Given the description of an element on the screen output the (x, y) to click on. 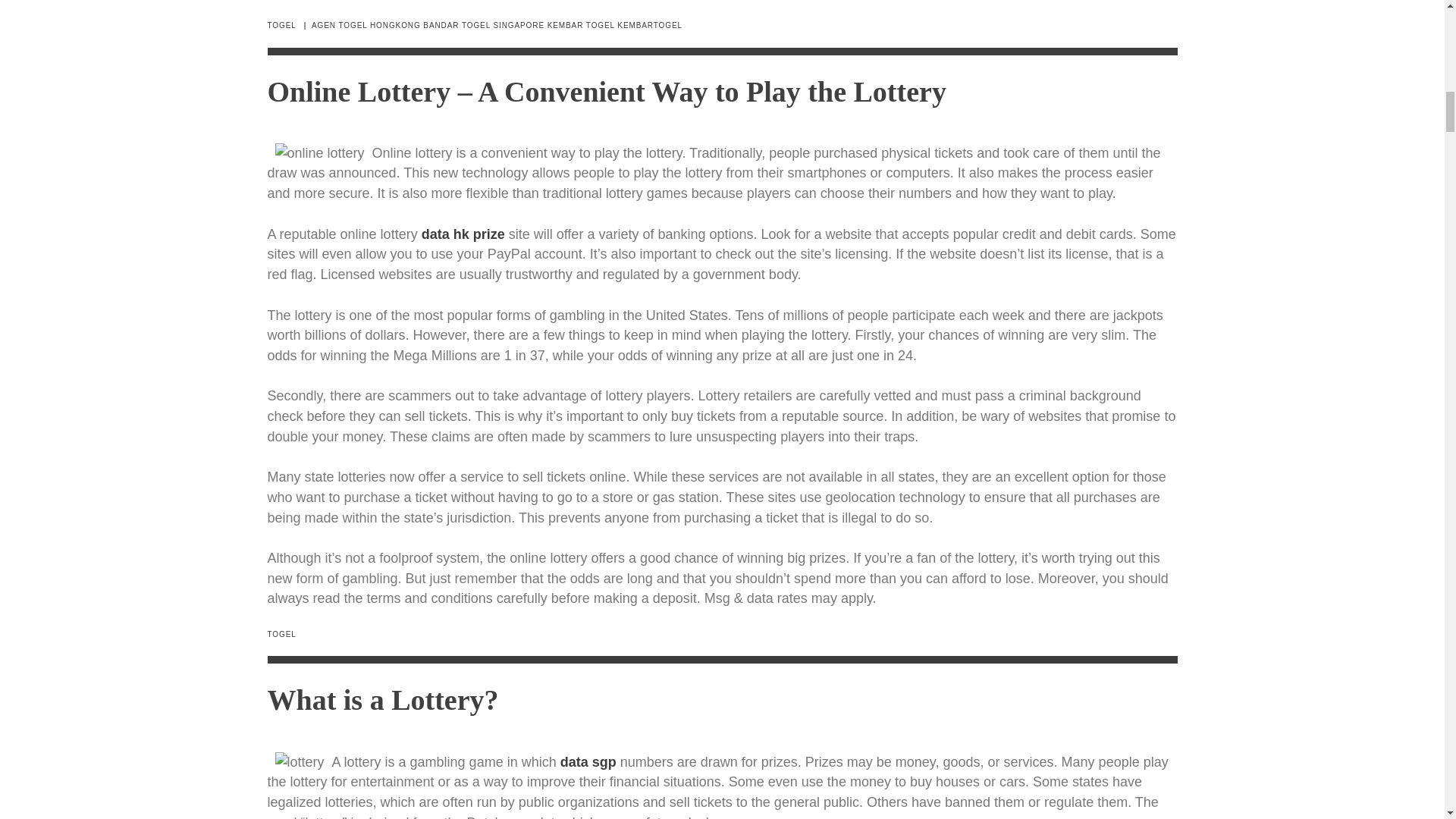
KEMBARTOGEL (649, 25)
KEMBAR TOGEL (580, 25)
AGEN TOGEL HONGKONG (365, 25)
What is a Lottery? (381, 699)
data sgp (587, 761)
What is a Lottery? (381, 699)
data hk prize (463, 233)
TOGEL (280, 25)
BANDAR TOGEL SINGAPORE (483, 25)
TOGEL (280, 633)
